Given the description of an element on the screen output the (x, y) to click on. 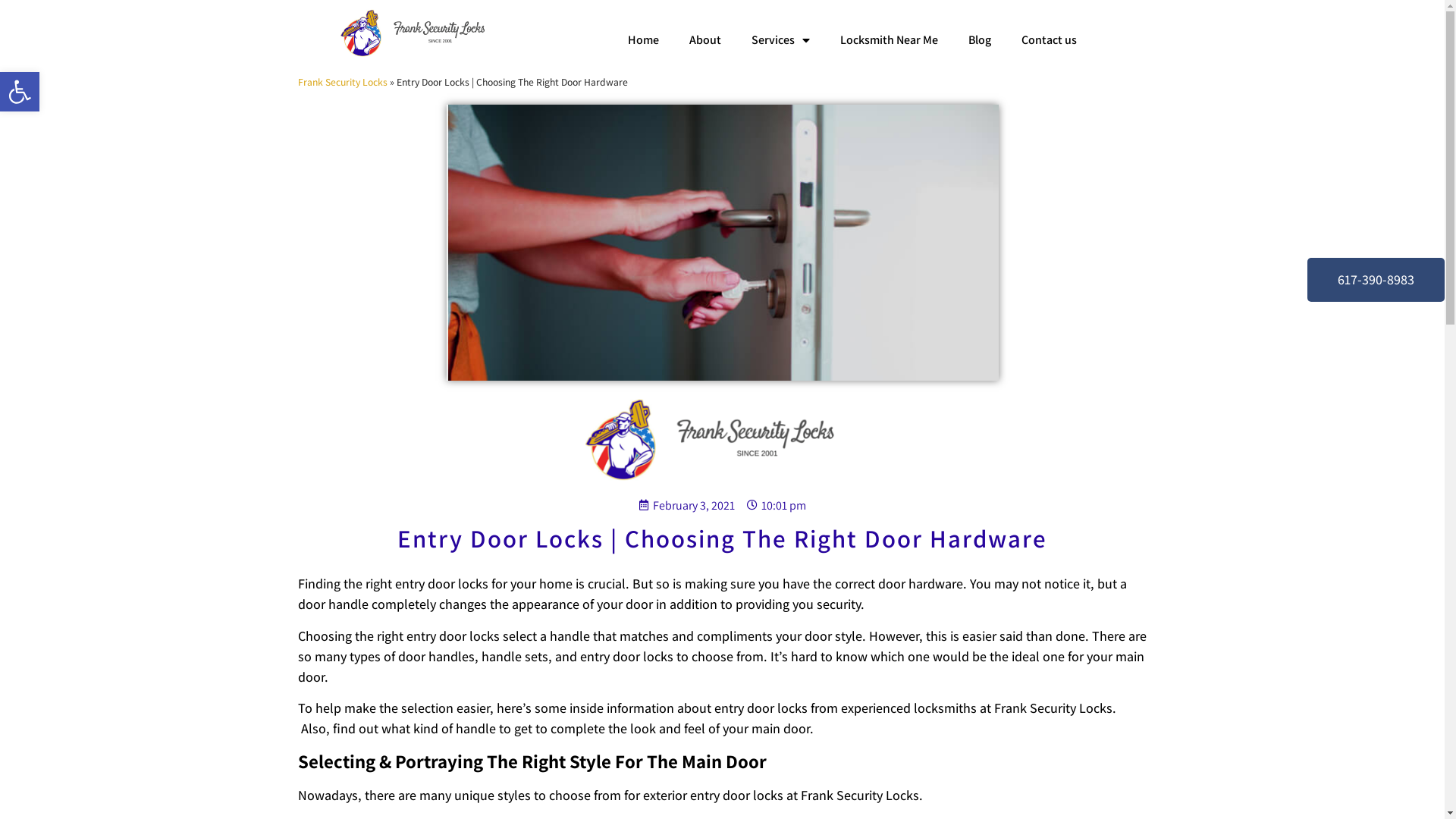
Services Element type: text (779, 39)
Home Element type: text (643, 39)
About Element type: text (704, 39)
Contact us Element type: text (1048, 39)
Frank Security Locks Element type: text (341, 81)
Blog Element type: text (978, 39)
Open toolbar
Accessibility Tools Element type: text (19, 91)
Locksmith Near Me Element type: text (889, 39)
617-390-8983 Element type: text (1375, 279)
